Given the description of an element on the screen output the (x, y) to click on. 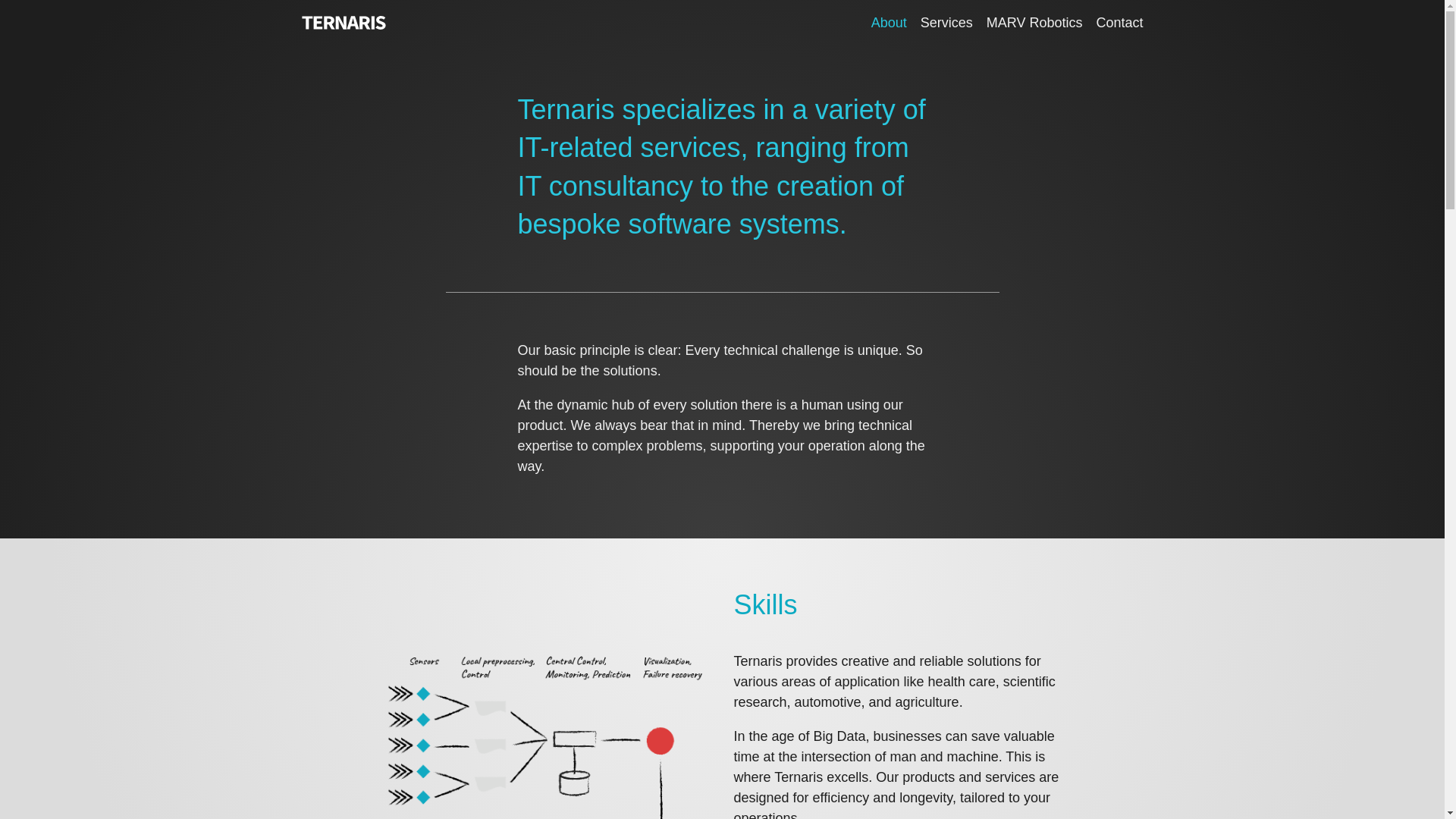
Contact (1119, 22)
About (888, 22)
Services (946, 22)
MARV Robotics (1035, 22)
